Given the description of an element on the screen output the (x, y) to click on. 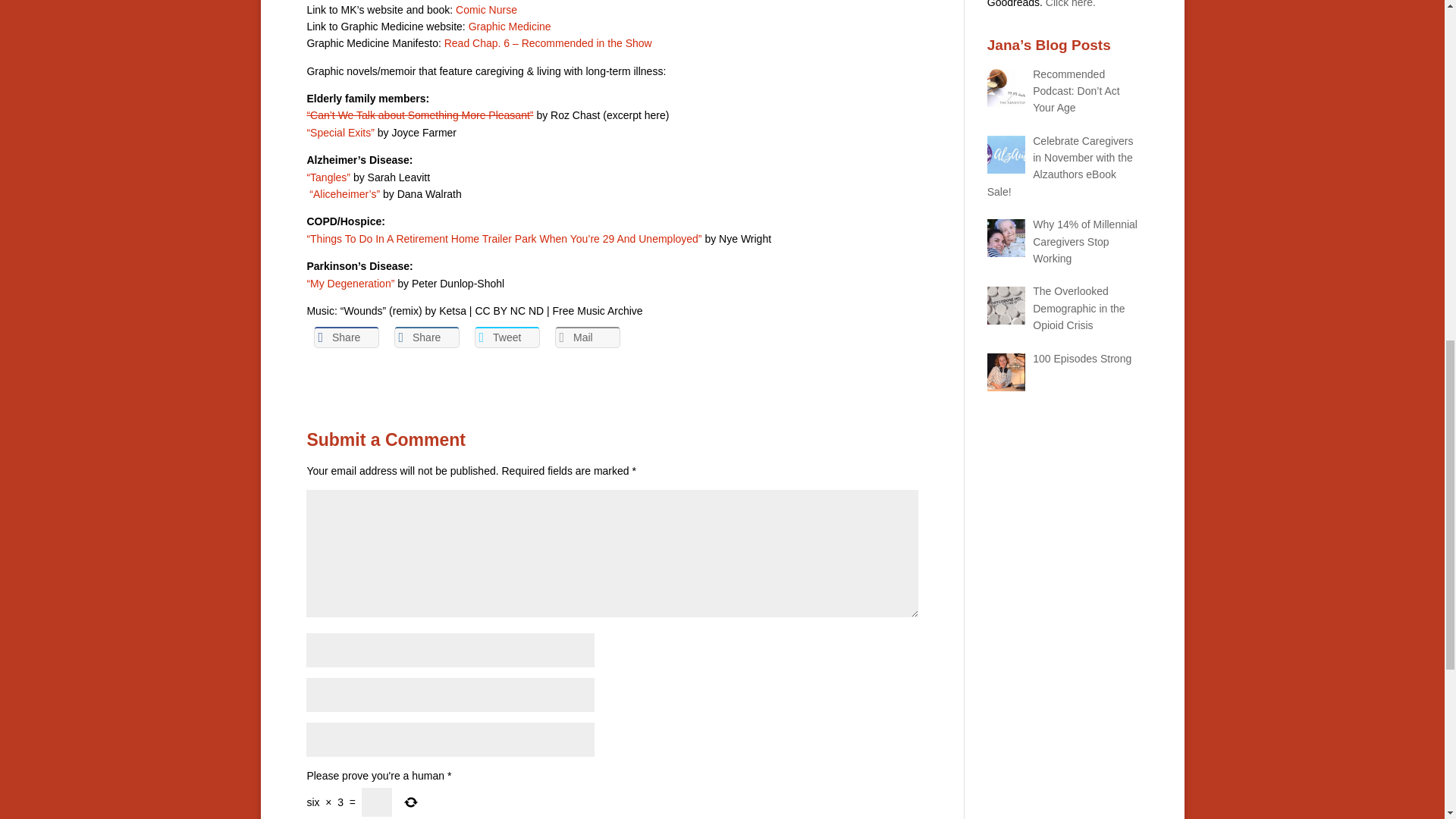
Graphic Medicine (509, 26)
Tweet (507, 336)
Share on LinkedIn (427, 336)
Share it on Email (587, 336)
Comic Nurse (485, 9)
Share (427, 336)
Share on Facebook (346, 336)
Click here. (1070, 4)
Share on Twitter (507, 336)
Share (346, 336)
